Given the description of an element on the screen output the (x, y) to click on. 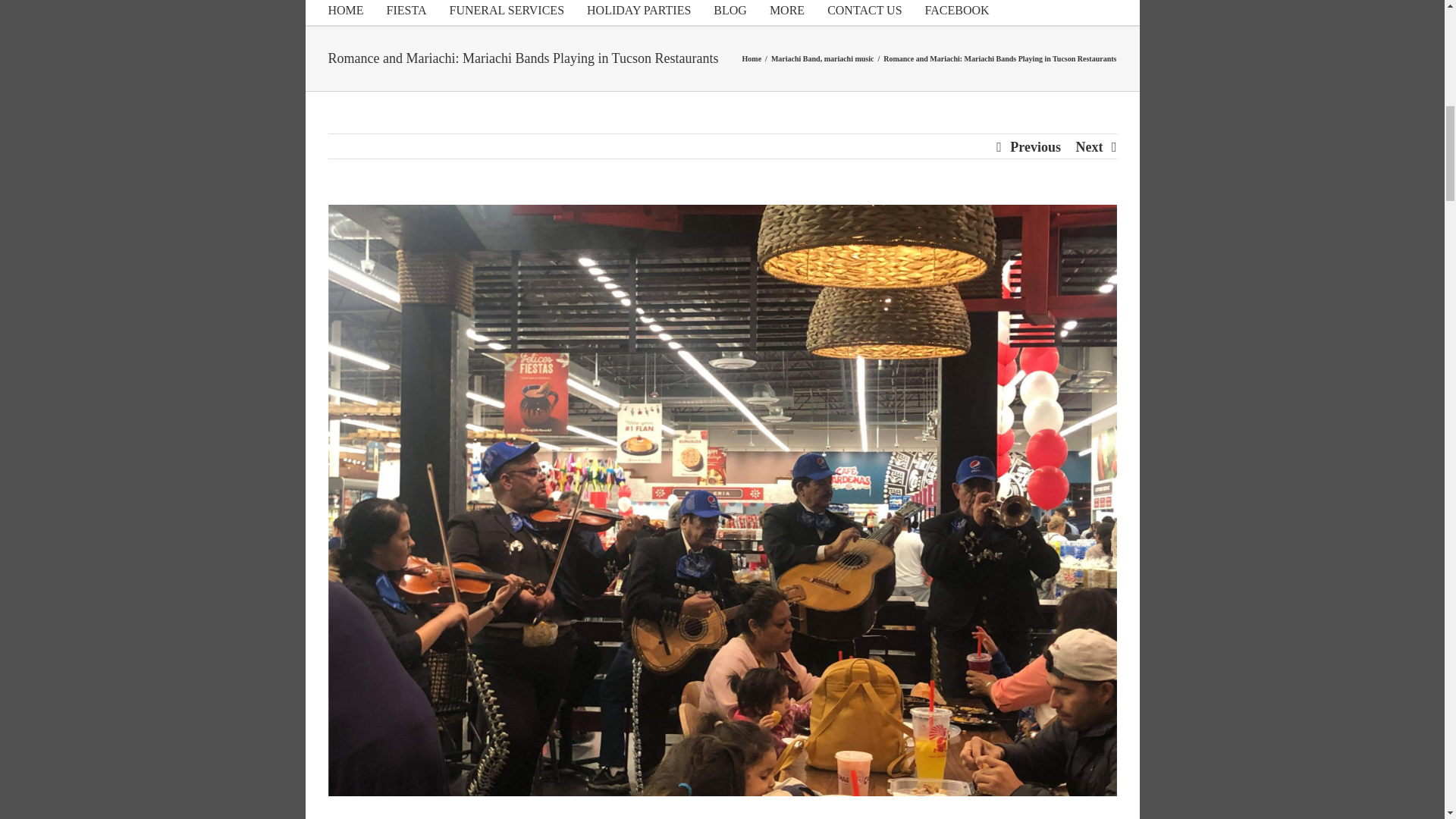
FUNERAL SERVICES (506, 12)
mariachi music (849, 58)
FIESTA (406, 12)
Mariachi Band (796, 58)
BLOG (729, 12)
FACEBOOK (957, 12)
Next (1089, 146)
CONTACT US (864, 12)
HOLIDAY PARTIES (638, 12)
HOME (344, 12)
